Given the description of an element on the screen output the (x, y) to click on. 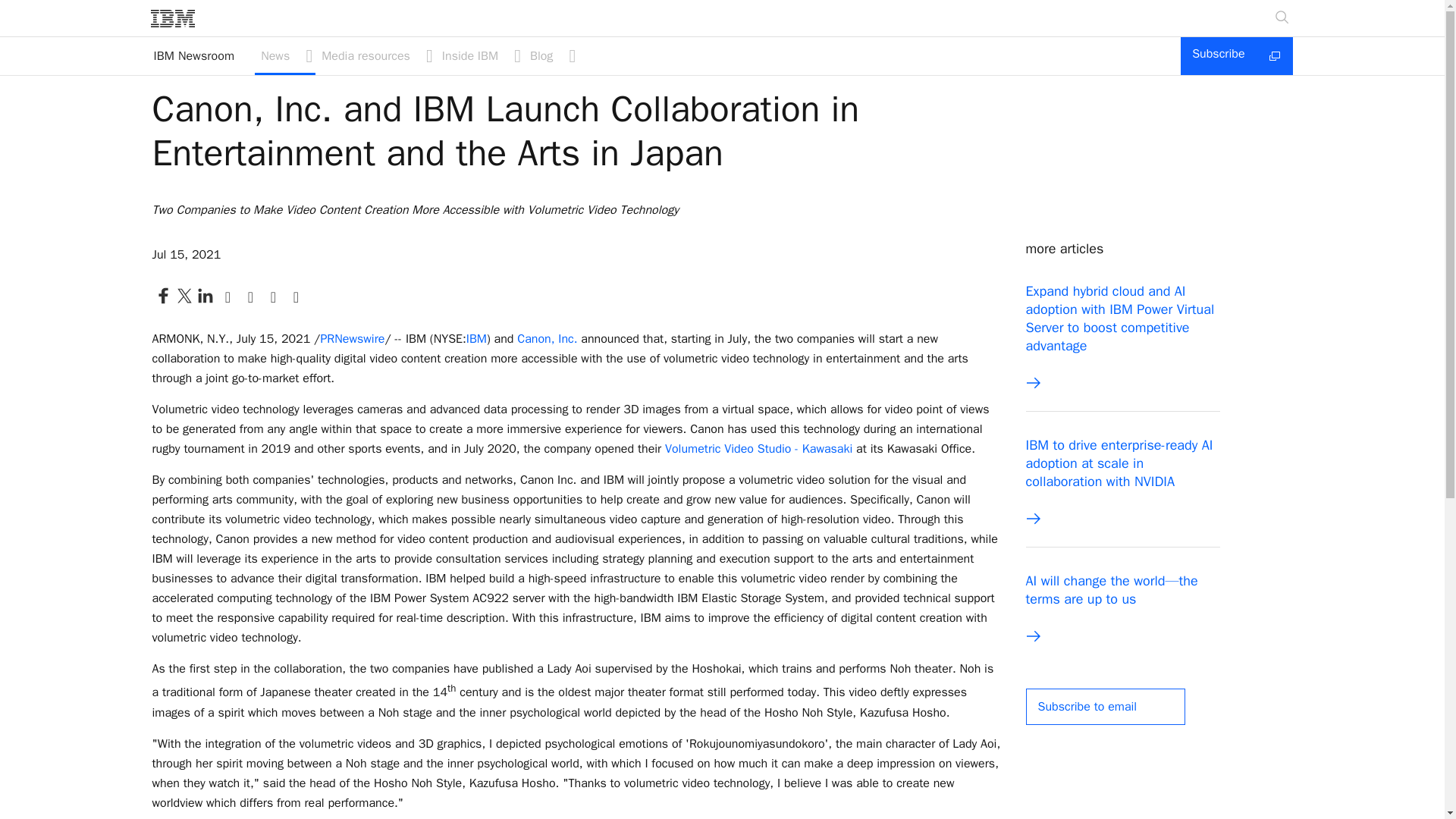
News (284, 55)
print (228, 295)
Facebook (162, 303)
rss (273, 295)
pdf (296, 295)
LinkedIn (204, 303)
Subscribe (1236, 55)
Facebook (162, 295)
Inside IBM (479, 55)
email (251, 295)
Media resources (375, 55)
LinkedIn (204, 295)
Blog (551, 55)
